Given the description of an element on the screen output the (x, y) to click on. 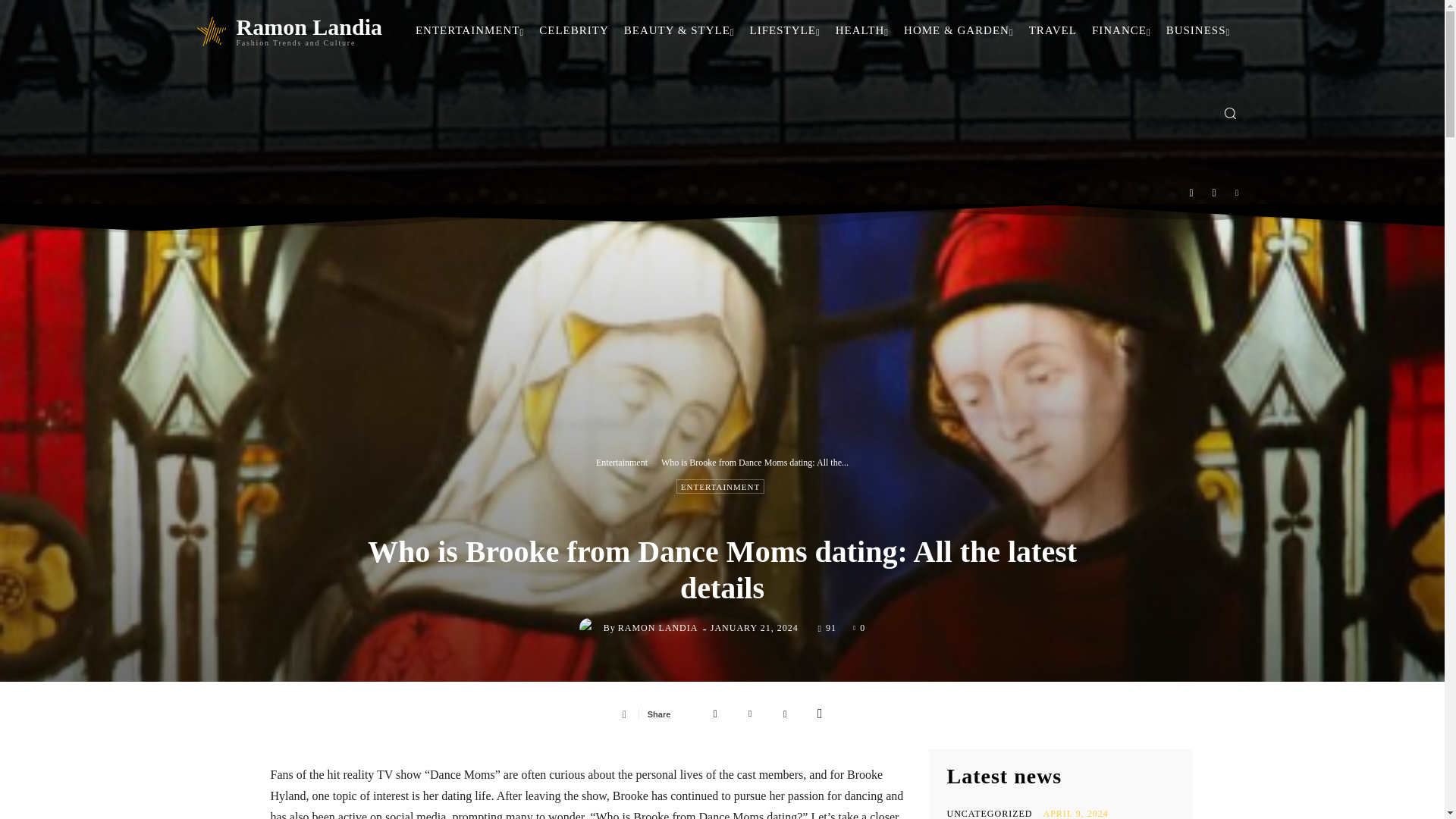
Pinterest (784, 713)
Facebook (715, 713)
View all posts in Entertainment (621, 462)
Twitter (750, 713)
WhatsApp (819, 713)
ramon landia (591, 628)
Instagram (1214, 192)
Facebook (1191, 192)
Twitter (1237, 192)
